Given the description of an element on the screen output the (x, y) to click on. 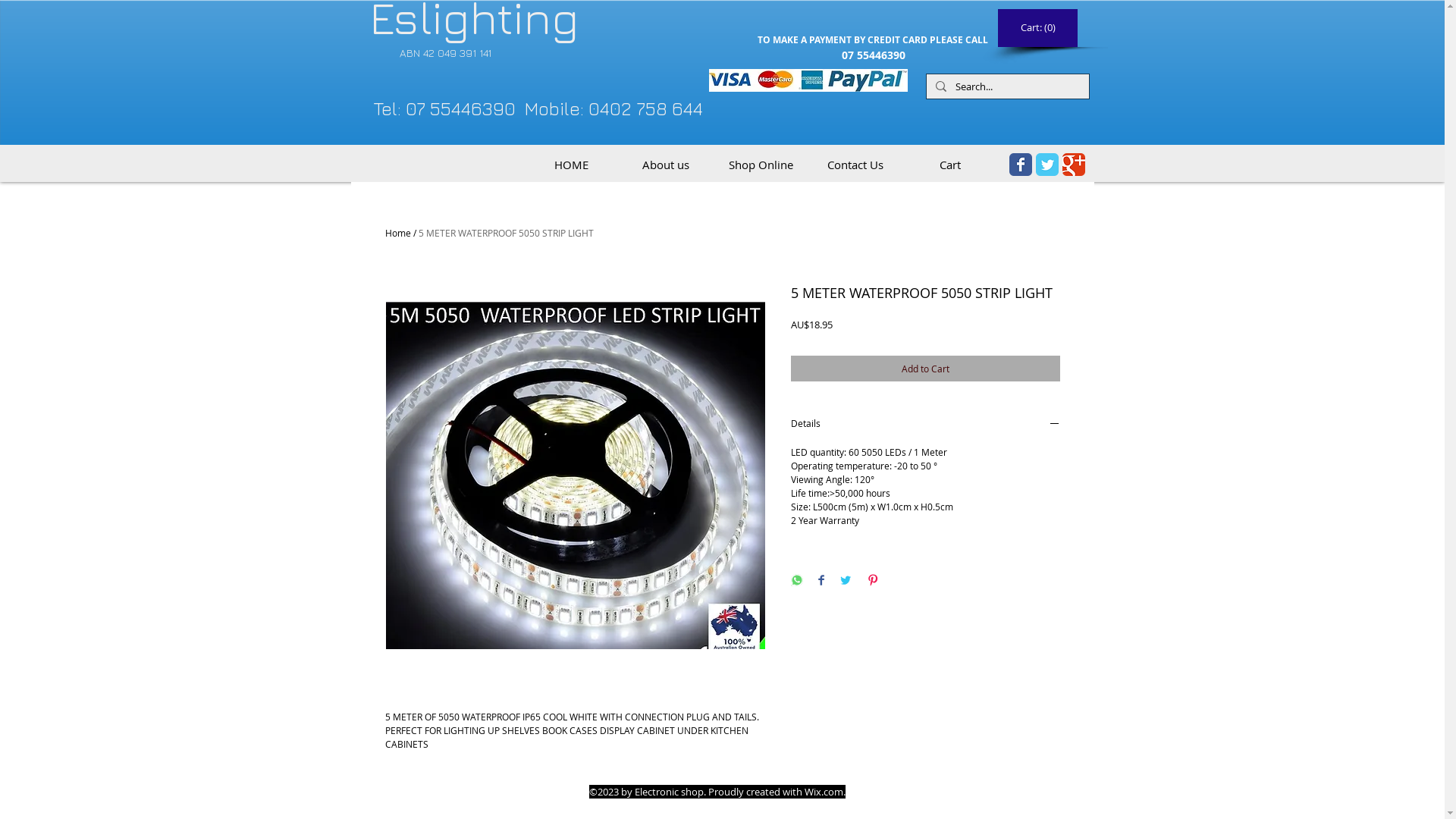
Details Element type: text (924, 424)
Contact Us Element type: text (855, 164)
Wix.com Element type: text (823, 791)
About us Element type: text (665, 164)
Shop Online Element type: text (759, 164)
cards.jpg Element type: hover (807, 80)
Add to Cart Element type: text (924, 368)
Cart: (0) Element type: text (1038, 27)
Cart Element type: text (949, 164)
5 METER WATERPROOF 5050 STRIP LIGHT Element type: text (505, 232)
HOME Element type: text (570, 164)
Home Element type: text (398, 232)
